Given the description of an element on the screen output the (x, y) to click on. 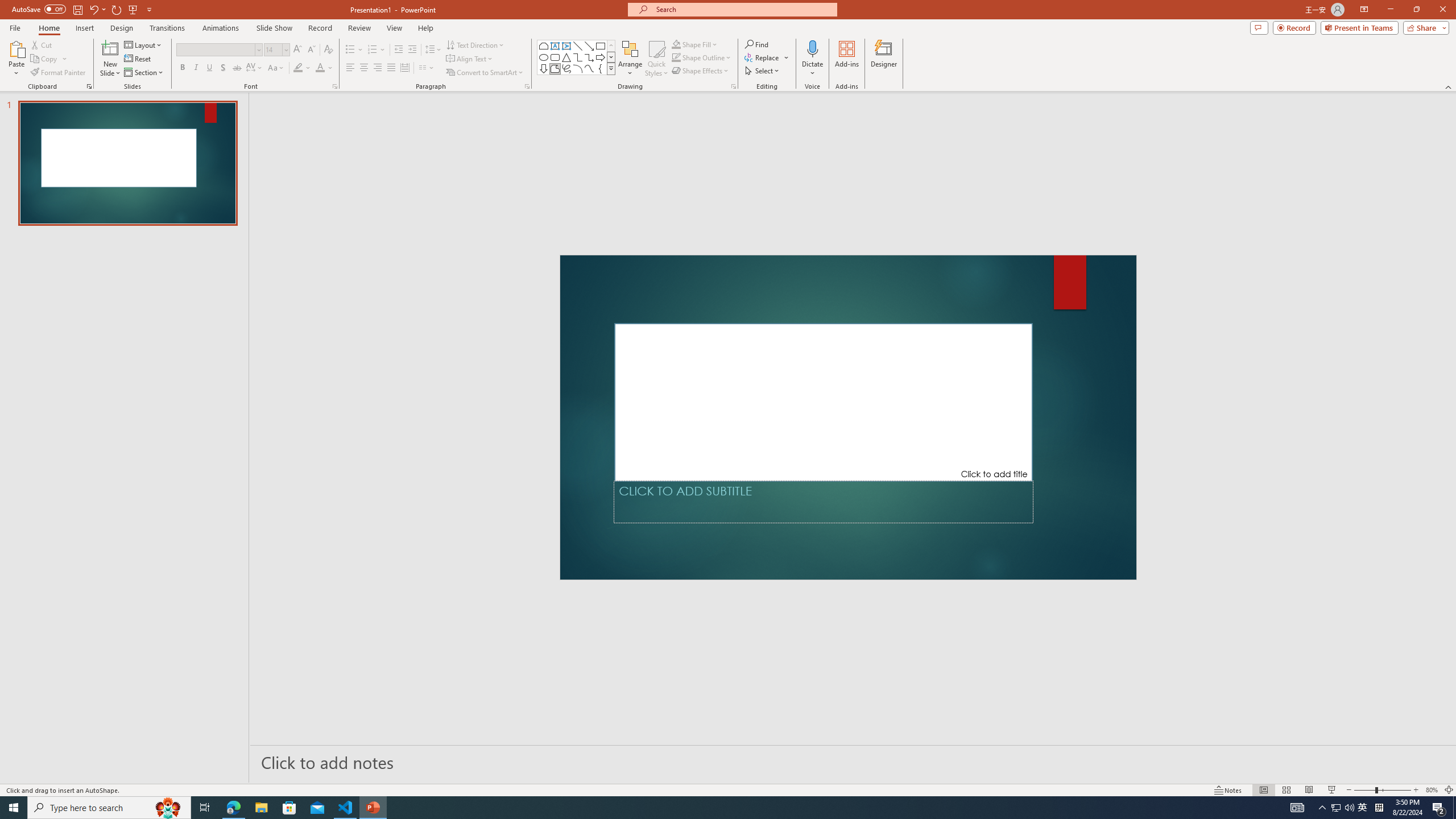
Change Case (276, 67)
Layout (143, 44)
Shape Effects (700, 69)
Clear Formatting (327, 49)
Arrow: Right (600, 57)
